Given the description of an element on the screen output the (x, y) to click on. 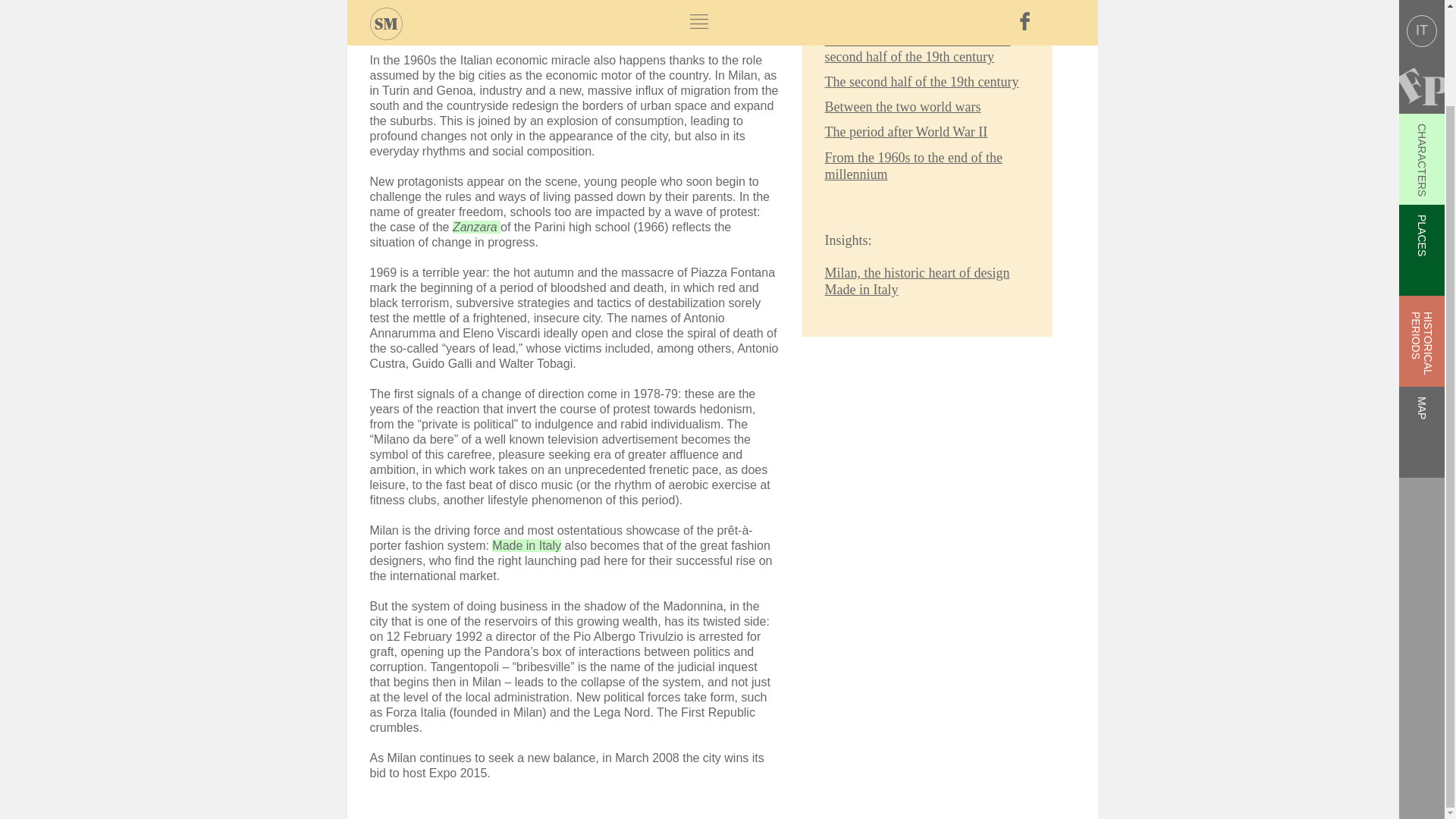
Zanzara (476, 226)
From the 1960s to the end of the millennium (914, 165)
Made in Italy (526, 545)
Milan, the historic heart of design Made in Italy (526, 545)
Milan in the first half of the 19th century (914, 11)
The period after World War II (906, 131)
The second half of the 19th century (922, 81)
Between the two world wars (903, 106)
Milan, the historic heart of design Made in Italy (917, 281)
